Given the description of an element on the screen output the (x, y) to click on. 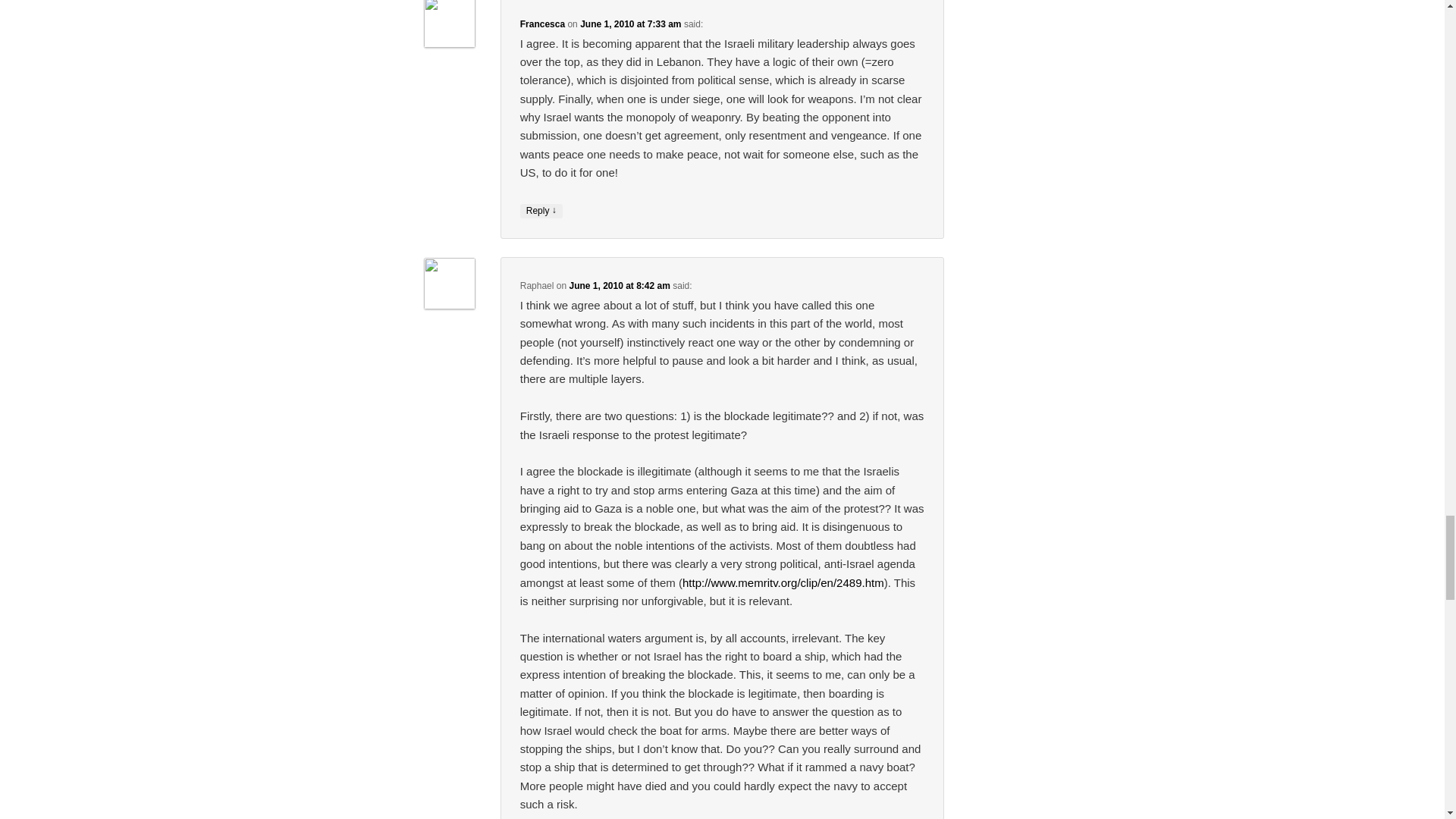
June 1, 2010 at 8:42 am (619, 285)
June 1, 2010 at 7:33 am (630, 23)
Francesca (541, 23)
